Given the description of an element on the screen output the (x, y) to click on. 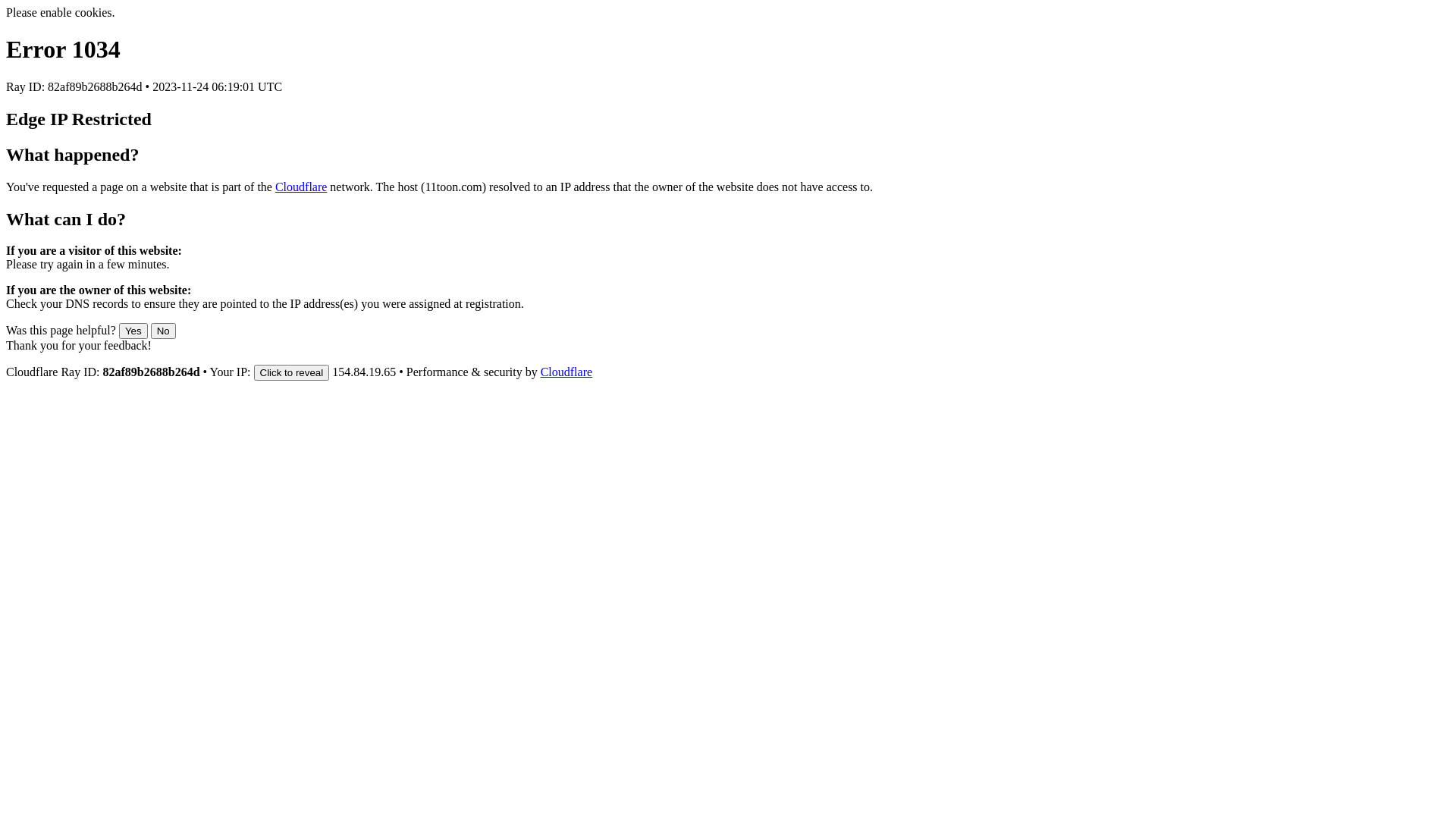
No Element type: text (162, 330)
Cloudflare Element type: text (300, 186)
Cloudflare Element type: text (566, 371)
Yes Element type: text (133, 330)
Click to reveal Element type: text (291, 372)
